Given the description of an element on the screen output the (x, y) to click on. 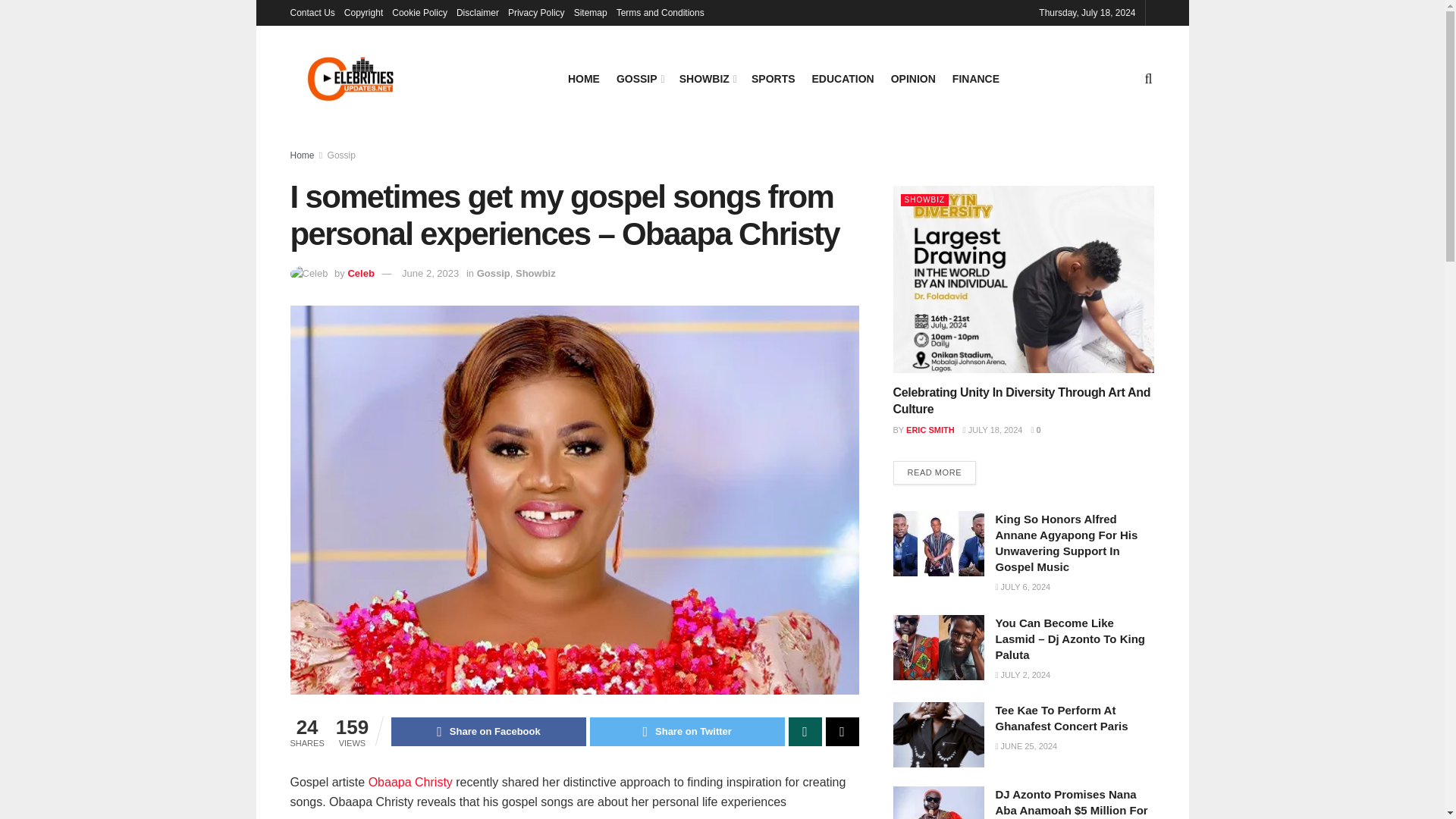
FINANCE (975, 78)
Sitemap (590, 12)
SHOWBIZ (707, 78)
Copyright (362, 12)
Contact Us (311, 12)
GOSSIP (638, 78)
Privacy Policy (536, 12)
EDUCATION (843, 78)
SPORTS (772, 78)
Terms and Conditions (659, 12)
HOME (583, 78)
Cookie Policy (418, 12)
Disclaimer (478, 12)
OPINION (913, 78)
